Given the description of an element on the screen output the (x, y) to click on. 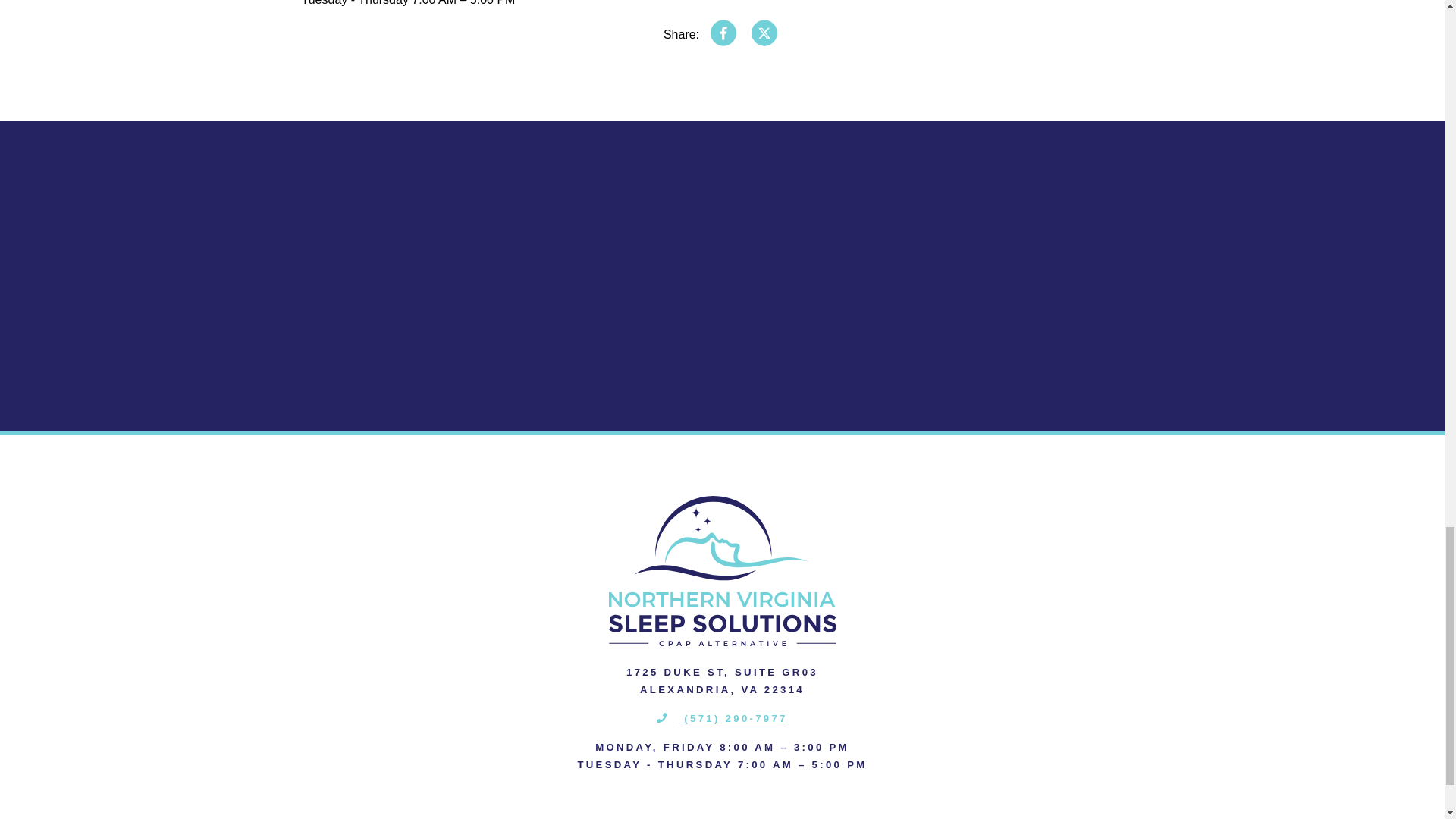
SKIP FOOTER (19, 129)
